Given the description of an element on the screen output the (x, y) to click on. 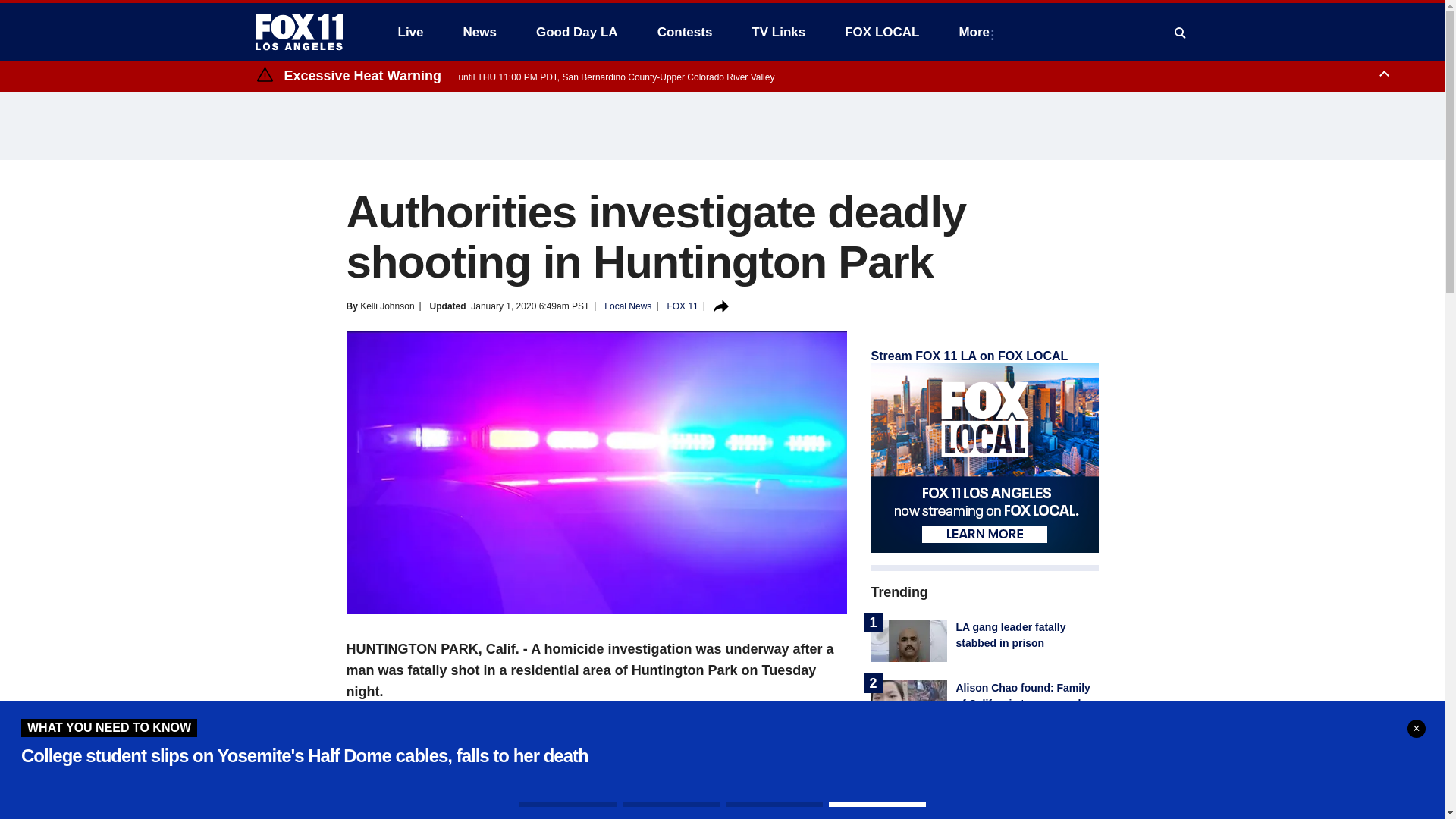
More (976, 32)
FOX LOCAL (881, 32)
Good Day LA (577, 32)
Contests (685, 32)
News (479, 32)
TV Links (777, 32)
Live (410, 32)
